Given the description of an element on the screen output the (x, y) to click on. 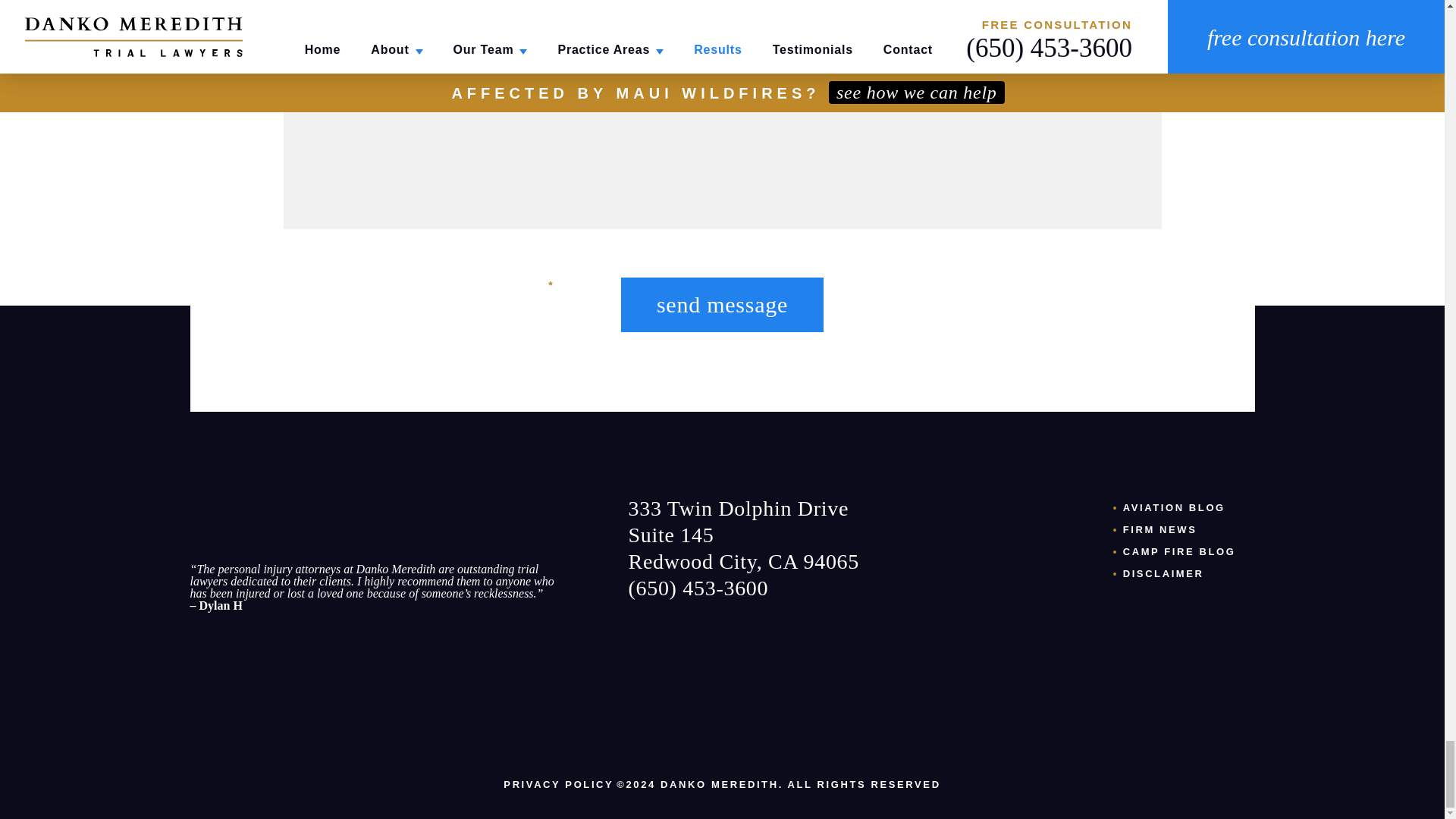
Send Message (722, 304)
CAMP FIRE BLOG (1179, 551)
AVIATION BLOG (1173, 507)
Send Message (722, 304)
FIRM NEWS (1159, 529)
